Given the description of an element on the screen output the (x, y) to click on. 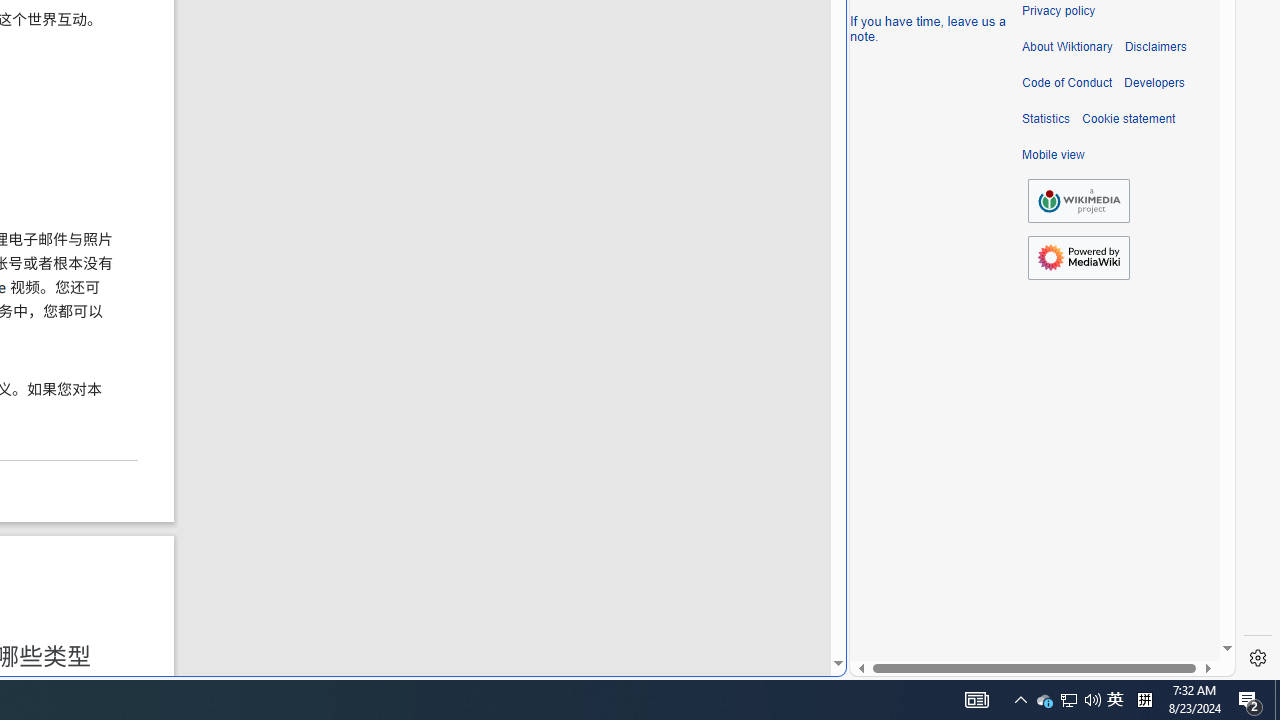
Code of Conduct (1067, 83)
Wikimedia Foundation (1078, 200)
Statistics (1046, 119)
Powered by MediaWiki (1078, 257)
Actions for this site (1129, 306)
Cookie statement (1128, 119)
